Given the description of an element on the screen output the (x, y) to click on. 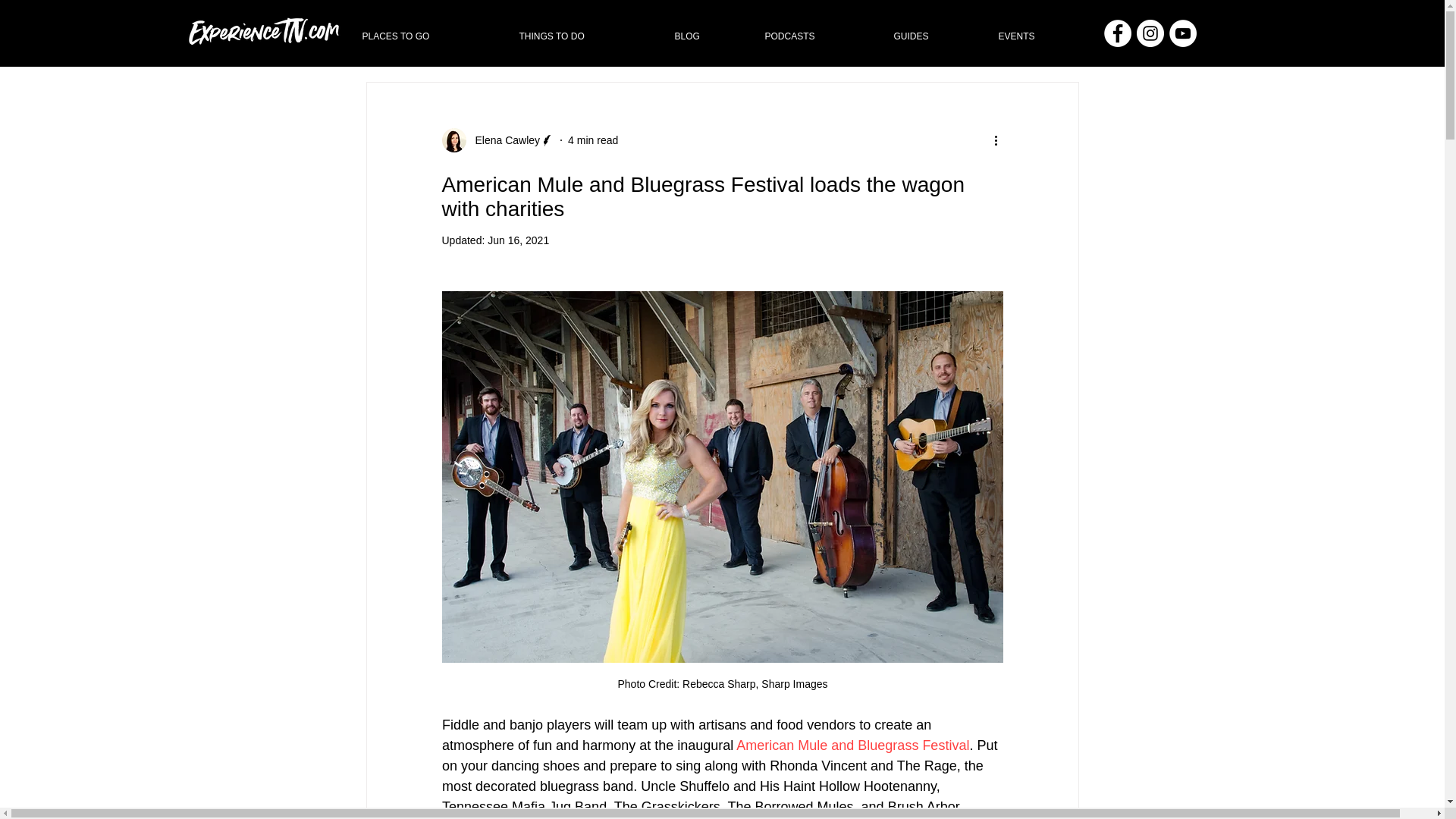
EVENTS (1040, 36)
 American Mule and Bluegrass Festival (851, 744)
THINGS TO DO (585, 36)
4 min read (592, 139)
BLOG (707, 36)
PLACES TO GO (428, 36)
Elena Cawley (502, 139)
Jun 16, 2021 (517, 240)
PODCASTS (818, 36)
Elena Cawley (497, 139)
